Given the description of an element on the screen output the (x, y) to click on. 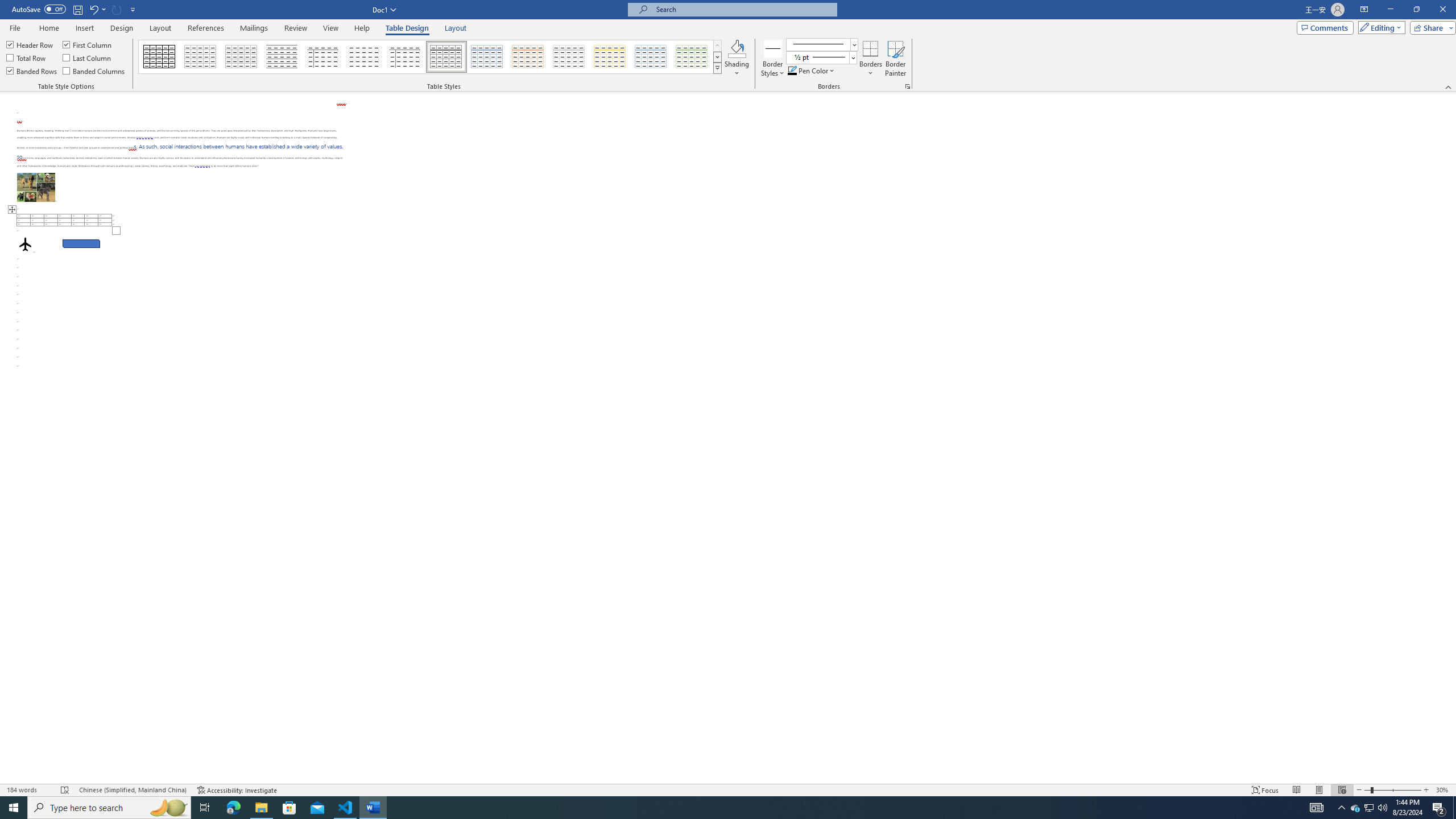
Zoom (1392, 790)
Read Mode (1296, 790)
Word Count 184 words (28, 790)
Plain Table 4 (363, 56)
Grid Table 1 Light (446, 56)
Border Painter (895, 58)
File Tab (15, 27)
Undo Row Height Spinner (92, 9)
Plain Table 1 (241, 56)
Restore Down (1416, 9)
Help (361, 28)
Ribbon Display Options (1364, 9)
Undo Row Height Spinner (96, 9)
Class: NetUIImage (817, 57)
Table Design (407, 28)
